Given the description of an element on the screen output the (x, y) to click on. 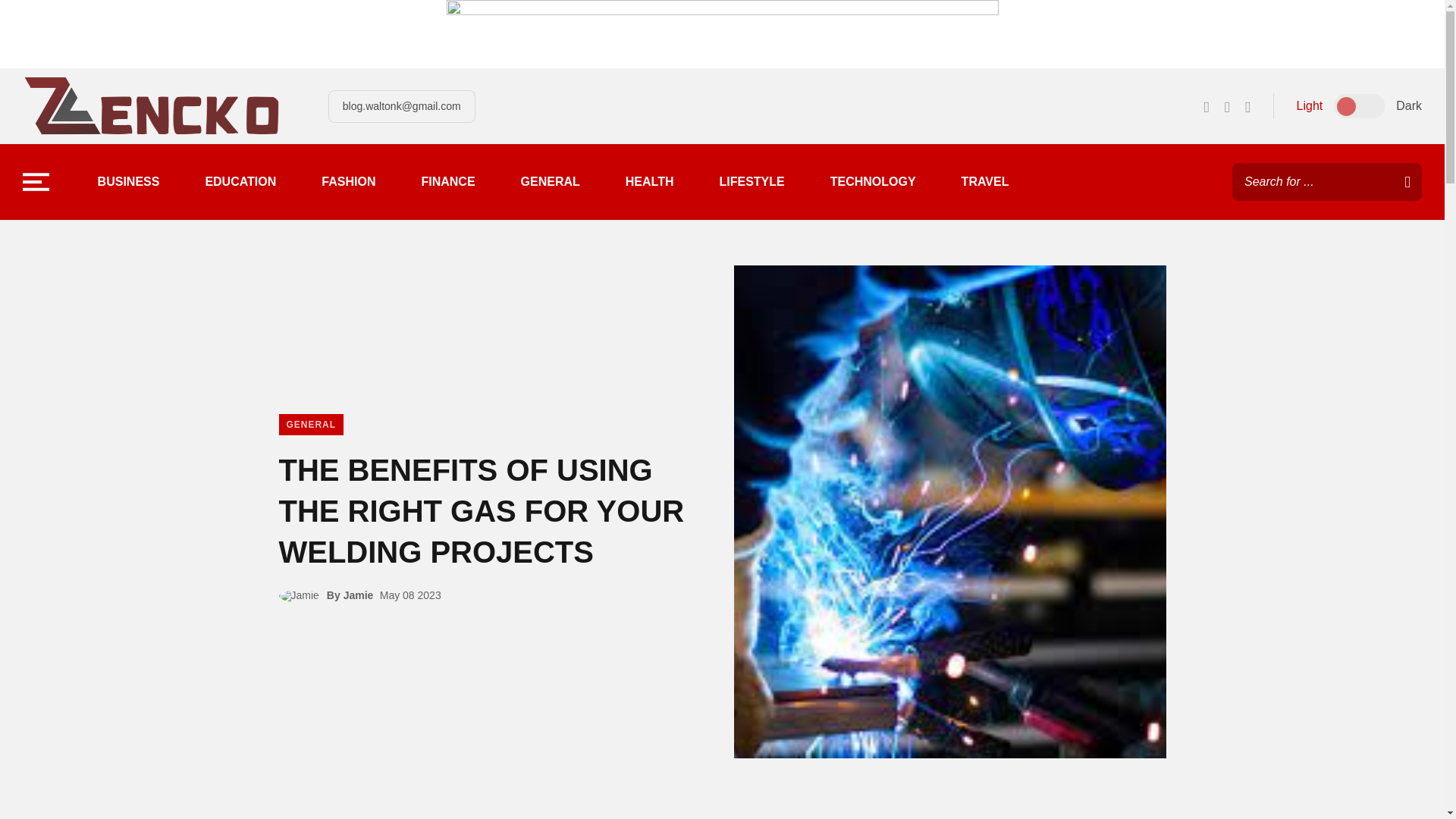
EDUCATION (240, 182)
FASHION (348, 182)
GENERAL (311, 424)
TRAVEL (984, 182)
FINANCE (447, 182)
BUSINESS (128, 182)
Posts byJamie (302, 594)
TECHNOLOGY (872, 182)
LIFESTYLE (751, 182)
May 8, 2023 at 4:52 pm (410, 594)
HEALTH (650, 182)
GENERAL (550, 182)
By Jamie (350, 594)
